Given the description of an element on the screen output the (x, y) to click on. 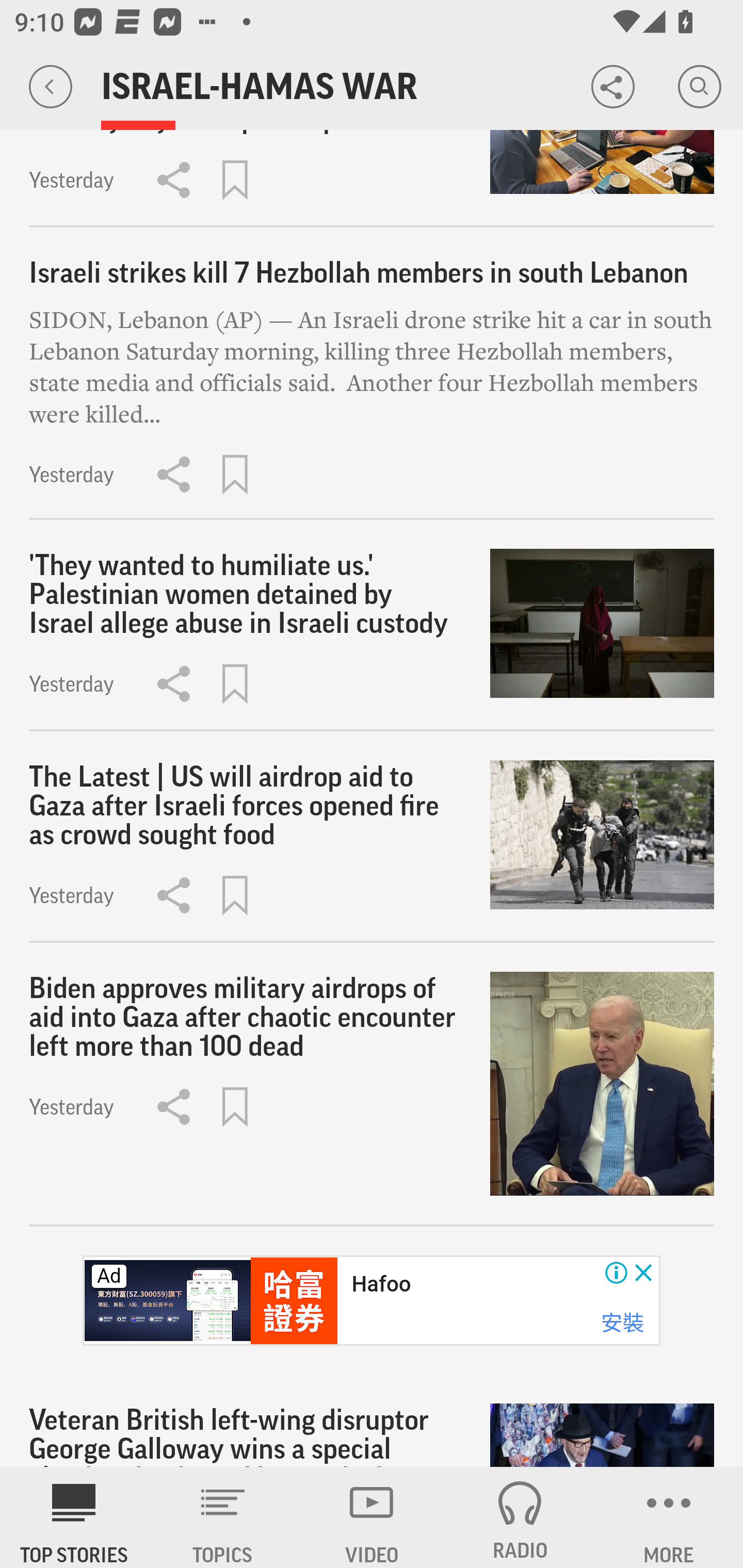
Hafoo (381, 1284)
安裝 (621, 1322)
AP News TOP STORIES (74, 1517)
TOPICS (222, 1517)
VIDEO (371, 1517)
RADIO (519, 1517)
MORE (668, 1517)
